Given the description of an element on the screen output the (x, y) to click on. 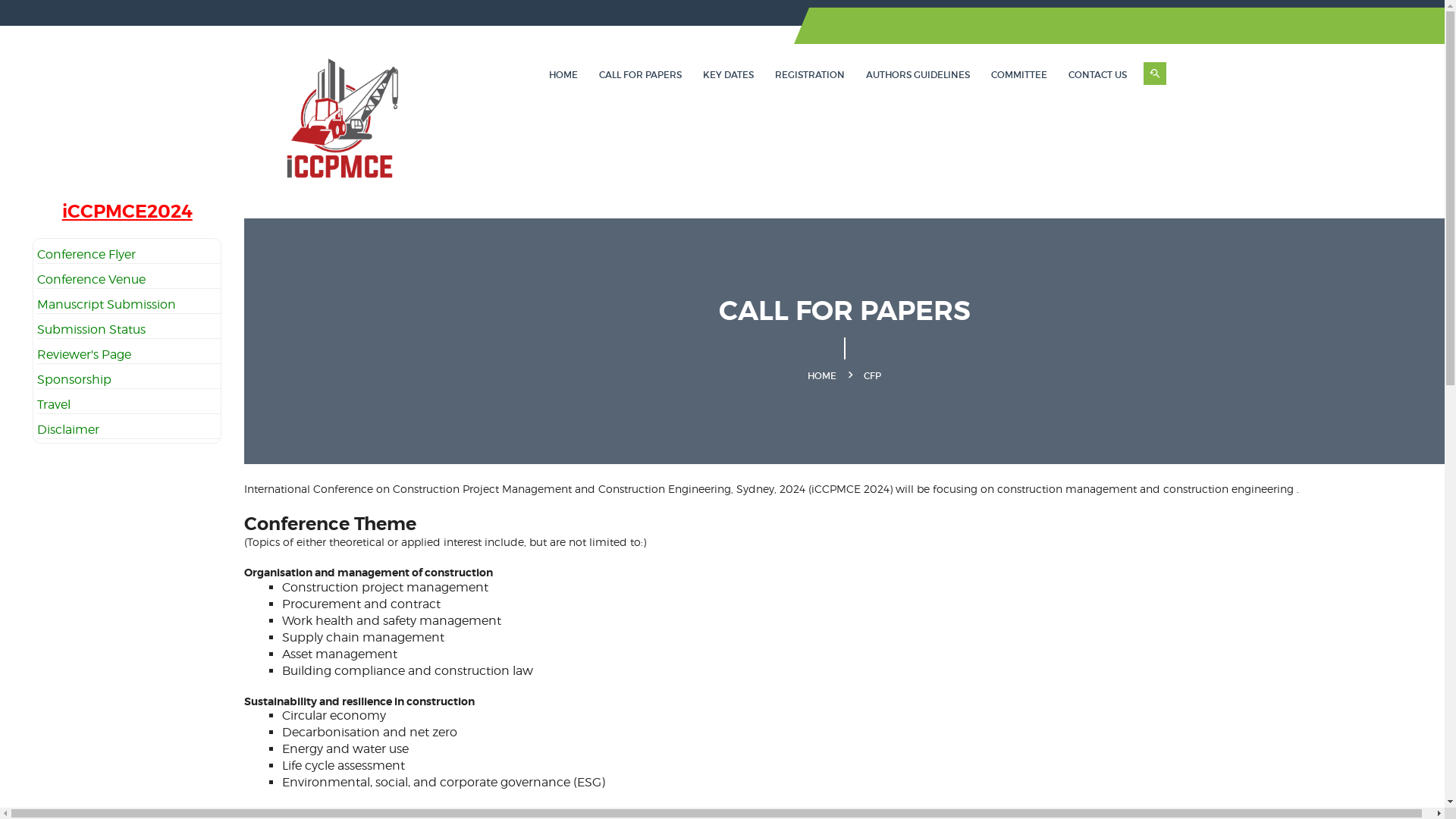
CALL FOR PAPERS Element type: text (640, 74)
CONTACT US Element type: text (1096, 74)
REGISTRATION Element type: text (809, 74)
Reviewer's Page Element type: text (84, 354)
Travel Element type: text (53, 404)
Disclaimer Element type: text (68, 429)
Conference Flyer Element type: text (86, 254)
Submission Status Element type: text (91, 329)
Manuscript Submission Element type: text (106, 304)
Conference Venue Element type: text (91, 279)
COMMITTEE Element type: text (1018, 74)
AUTHORS GUIDELINES Element type: text (917, 74)
HOME Element type: text (563, 74)
KEY DATES Element type: text (727, 74)
Sponsorship Element type: text (74, 379)
HOME Element type: text (821, 375)
